Given the description of an element on the screen output the (x, y) to click on. 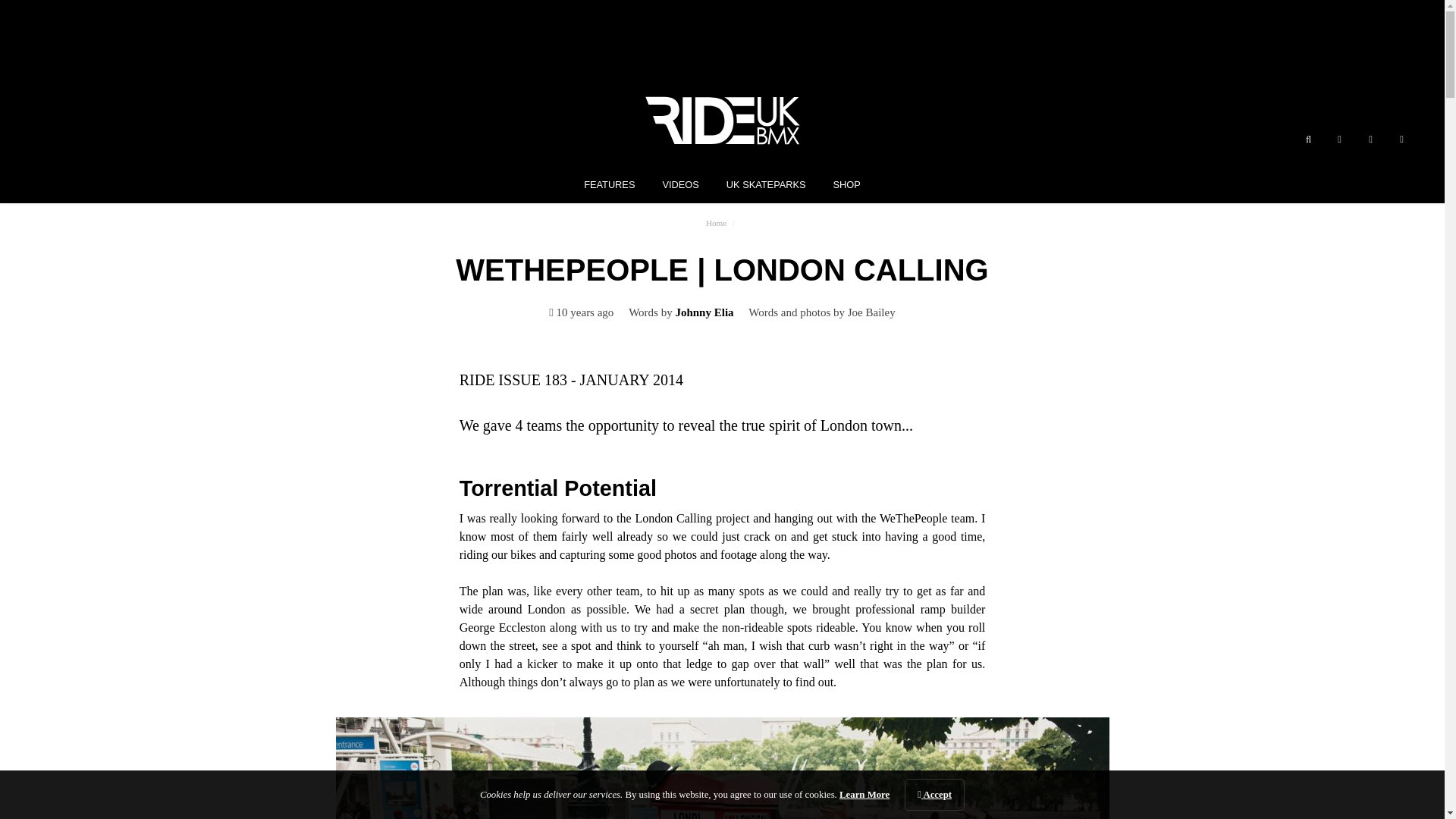
VIDEOS (680, 184)
FEATURES (608, 184)
Home (716, 222)
Find us on Instagram (1400, 139)
Follow us on Twitter (1370, 139)
Johnny Elia (705, 312)
3rd party ad content (721, 38)
Search (1307, 139)
UK SKATEPARKS (766, 184)
Home (716, 222)
Find us on Facebook (1339, 139)
SHOP (846, 184)
